Given the description of an element on the screen output the (x, y) to click on. 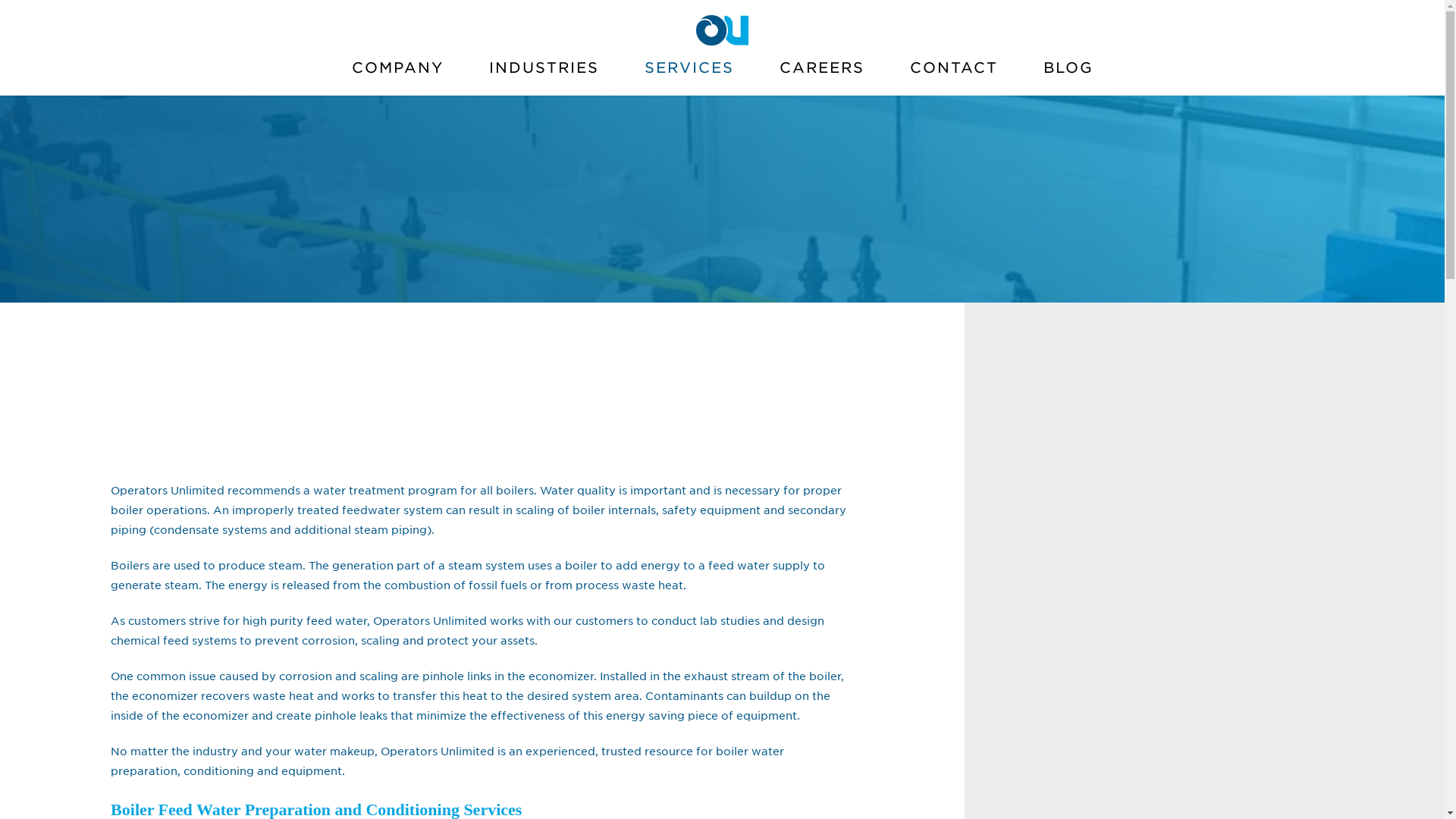
CONTACT (953, 75)
INDUSTRIES (543, 75)
BLOG (1068, 75)
CAREERS (821, 75)
SERVICES (689, 75)
COMPANY (397, 75)
